Given the description of an element on the screen output the (x, y) to click on. 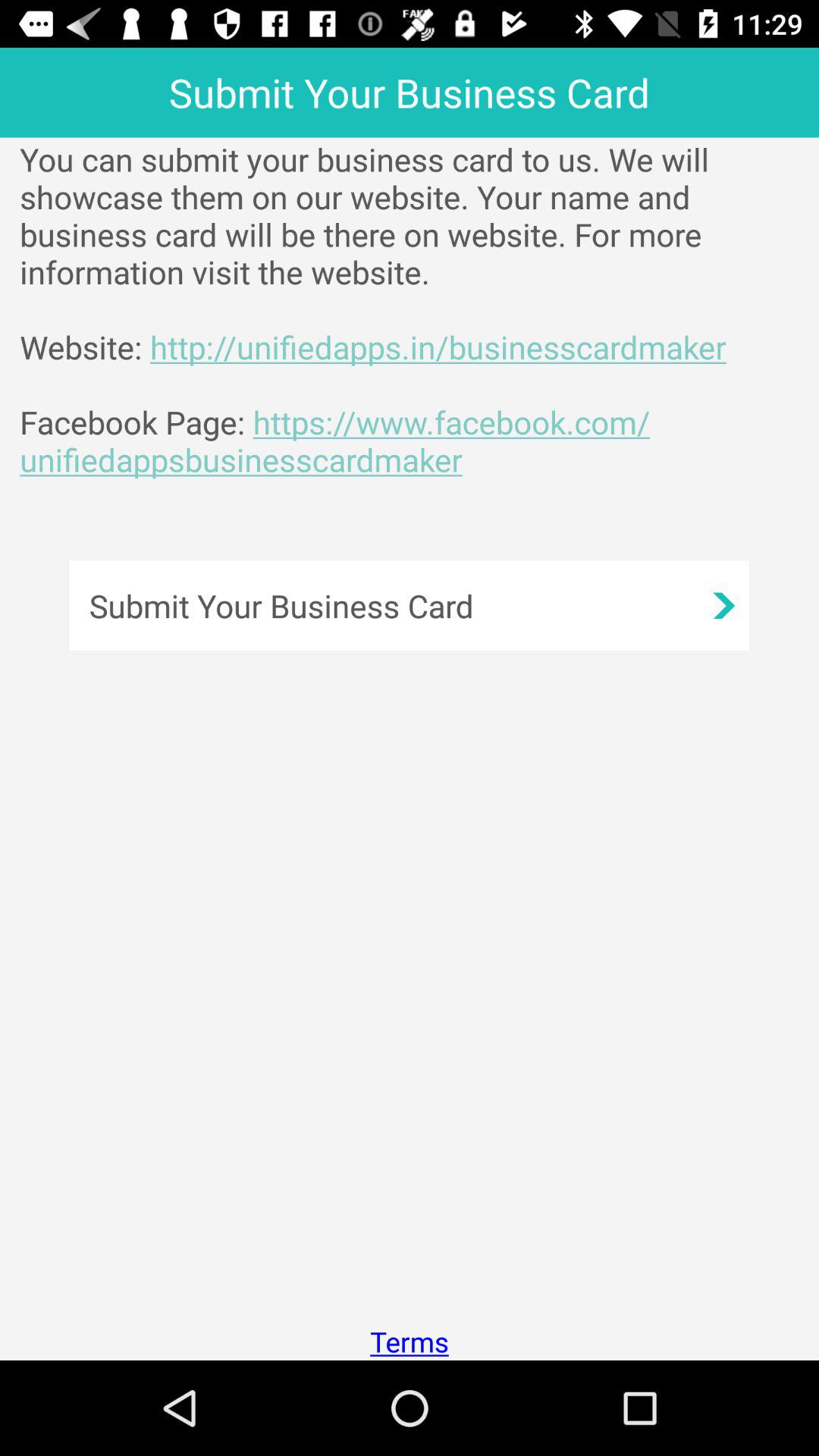
flip until terms icon (409, 1341)
